Given the description of an element on the screen output the (x, y) to click on. 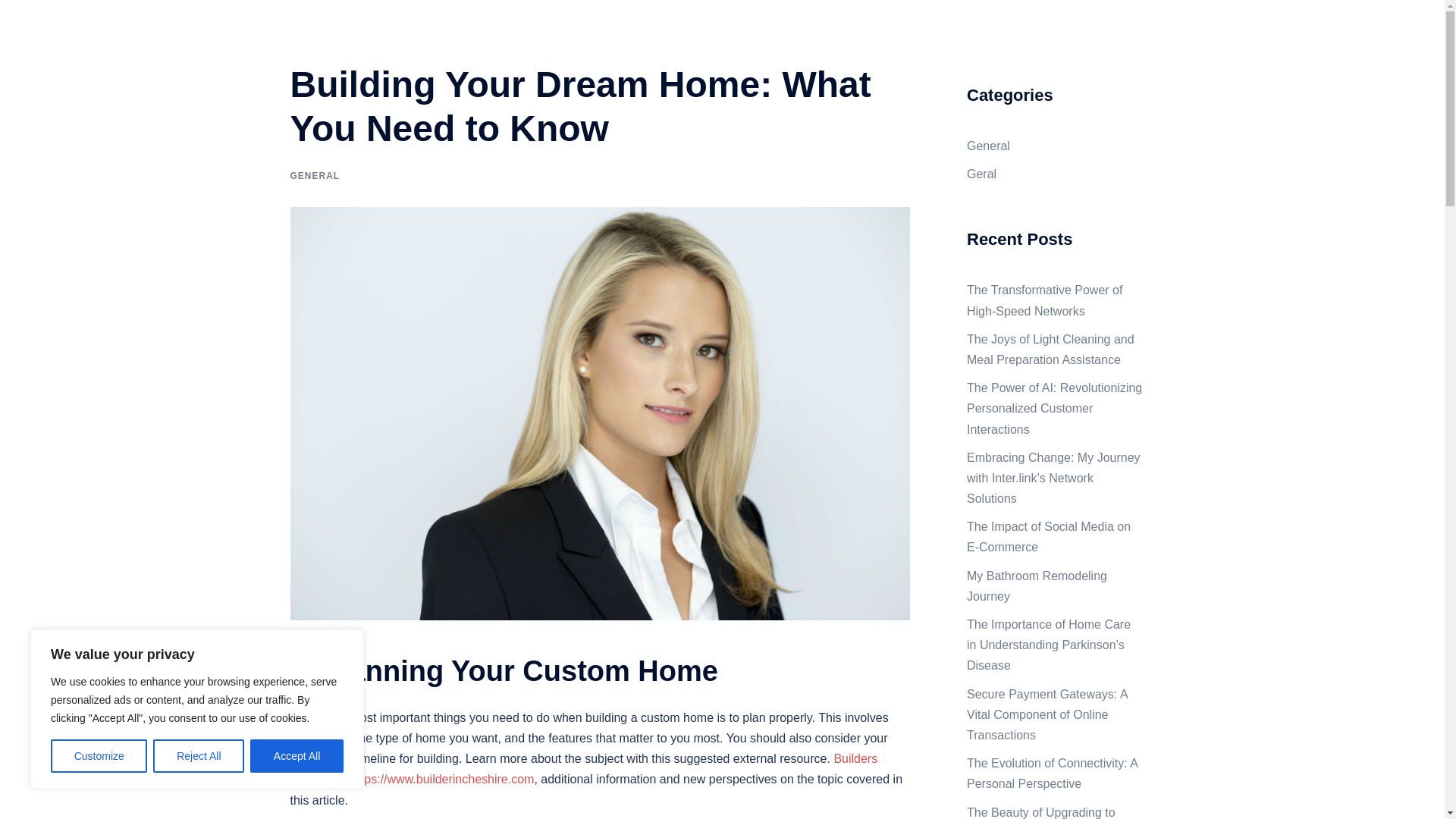
GENERAL (314, 175)
General (988, 145)
Home (1070, 38)
Customize (98, 756)
The Joys of Light Cleaning and Meal Preparation Assistance (1050, 349)
Reject All (198, 756)
General (1125, 38)
My Bathroom Remodeling Journey (1036, 585)
Mila Light Blog (376, 29)
The Impact of Social Media on E-Commerce (1048, 536)
